Given the description of an element on the screen output the (x, y) to click on. 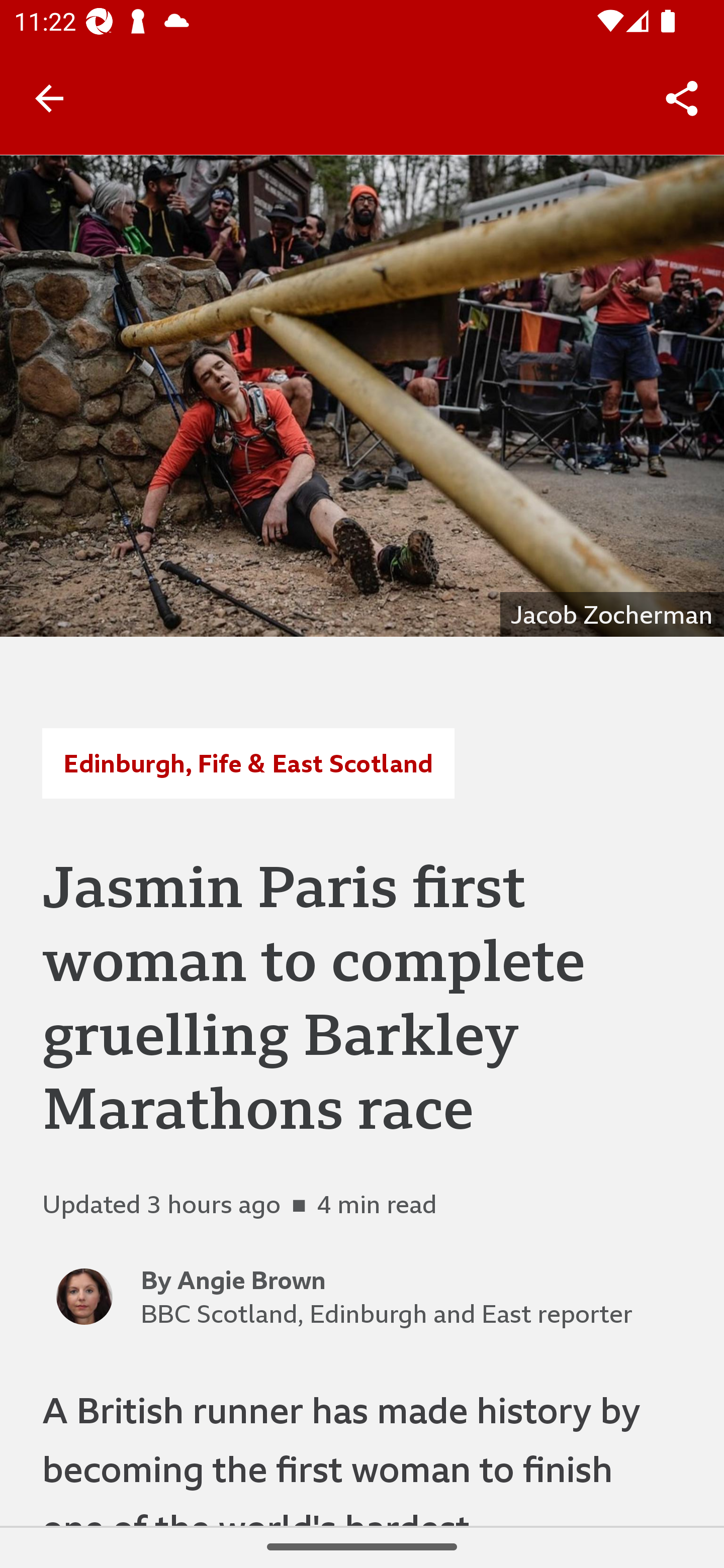
Back (49, 97)
Share (681, 98)
Jasmin Paris (362, 395)
Edinburgh, Fife & East Scotland (247, 763)
